Given the description of an element on the screen output the (x, y) to click on. 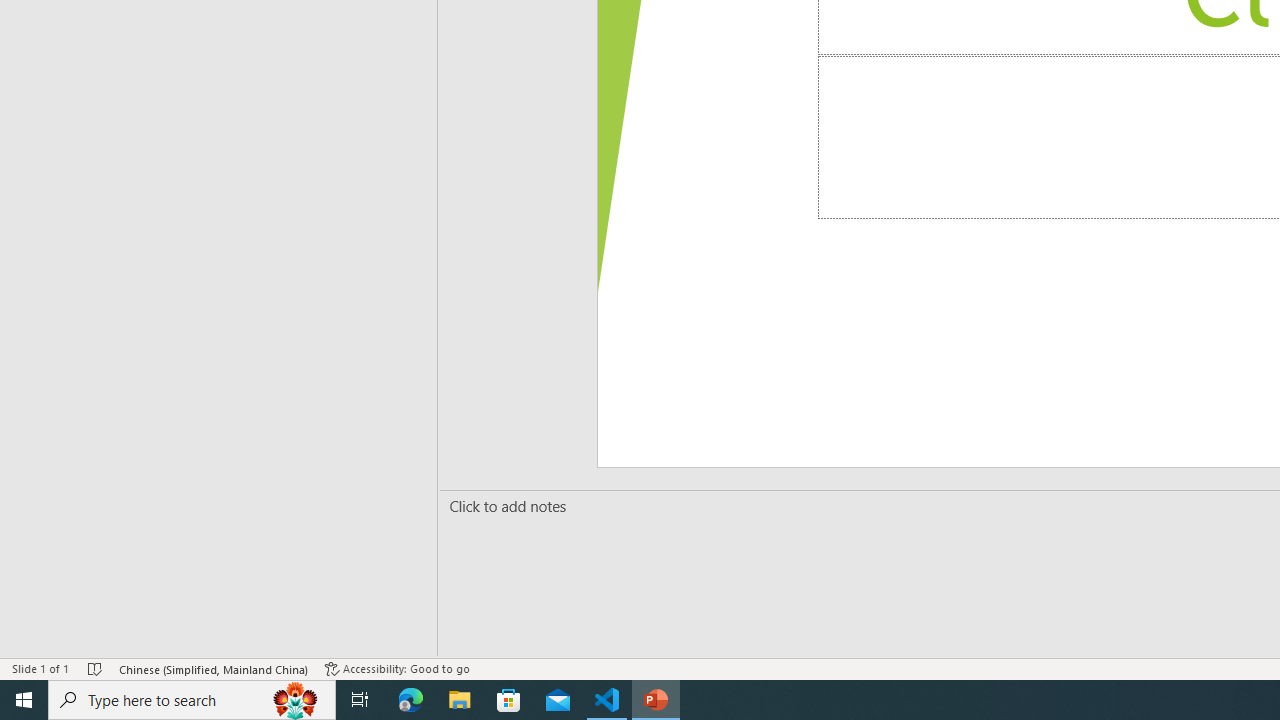
Spell Check No Errors (95, 668)
Accessibility Checker Accessibility: Good to go (397, 668)
